Given the description of an element on the screen output the (x, y) to click on. 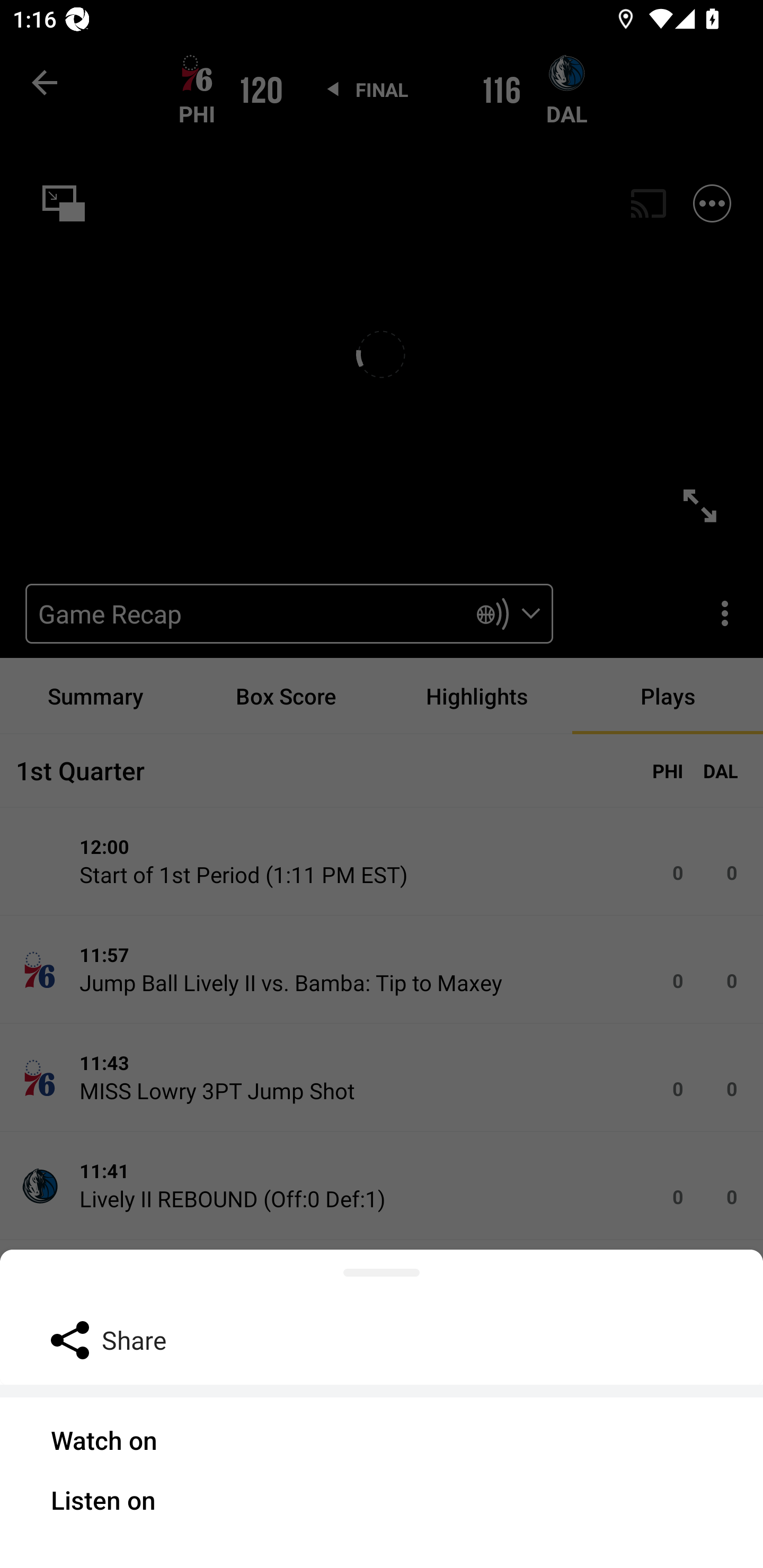
Share (381, 1339)
